Given the description of an element on the screen output the (x, y) to click on. 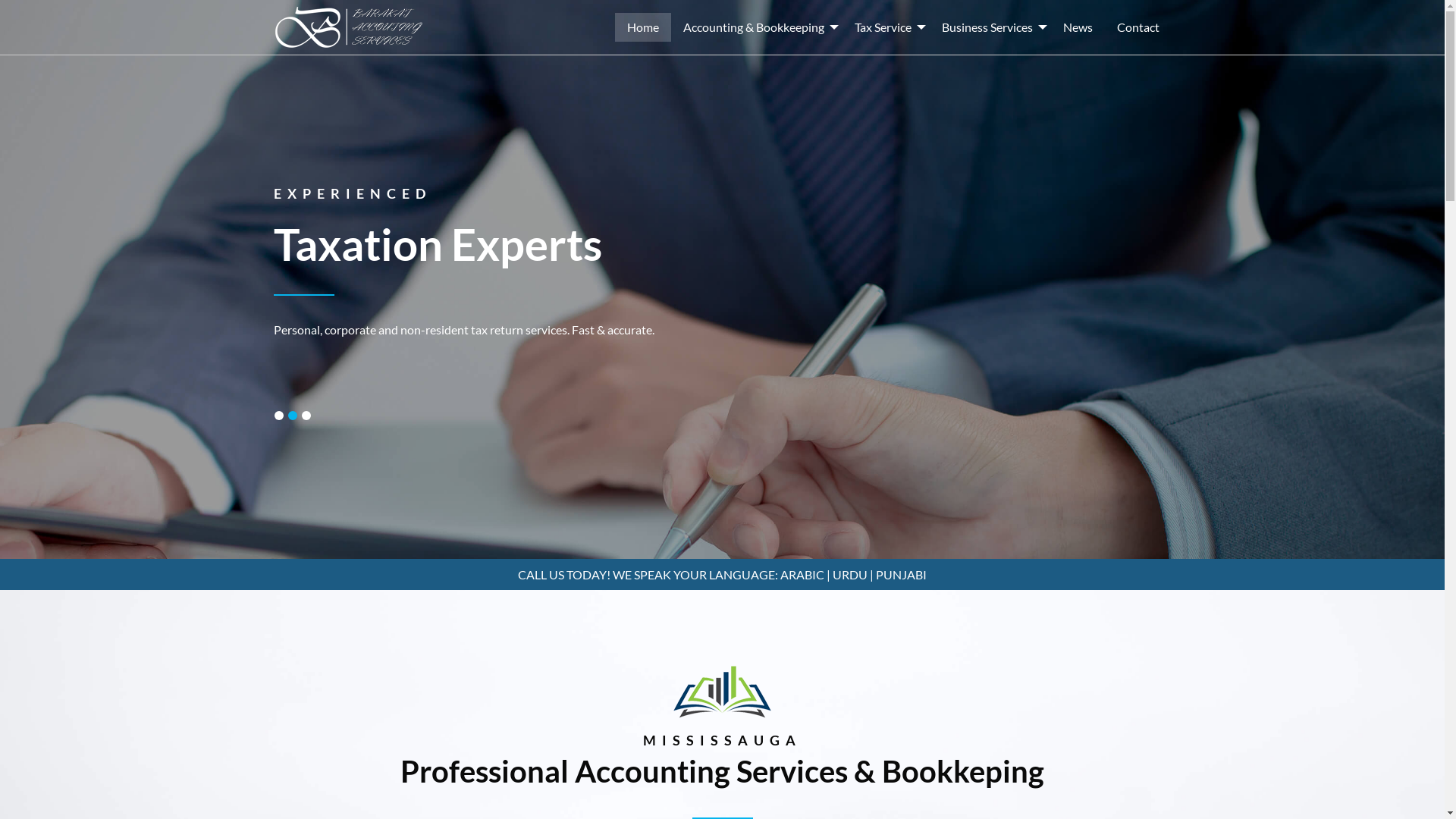
Third slide details. Element type: text (305, 415)
Business Services Element type: text (990, 26)
Accounting & Bookkeeping Element type: text (755, 26)
News Element type: text (1077, 26)
Second slide details.
Current Slide Element type: text (292, 415)
Home Element type: text (642, 26)
Contact Element type: text (1137, 26)
Tax Service Element type: text (884, 26)
First slide details. Element type: text (278, 415)
